Given the description of an element on the screen output the (x, y) to click on. 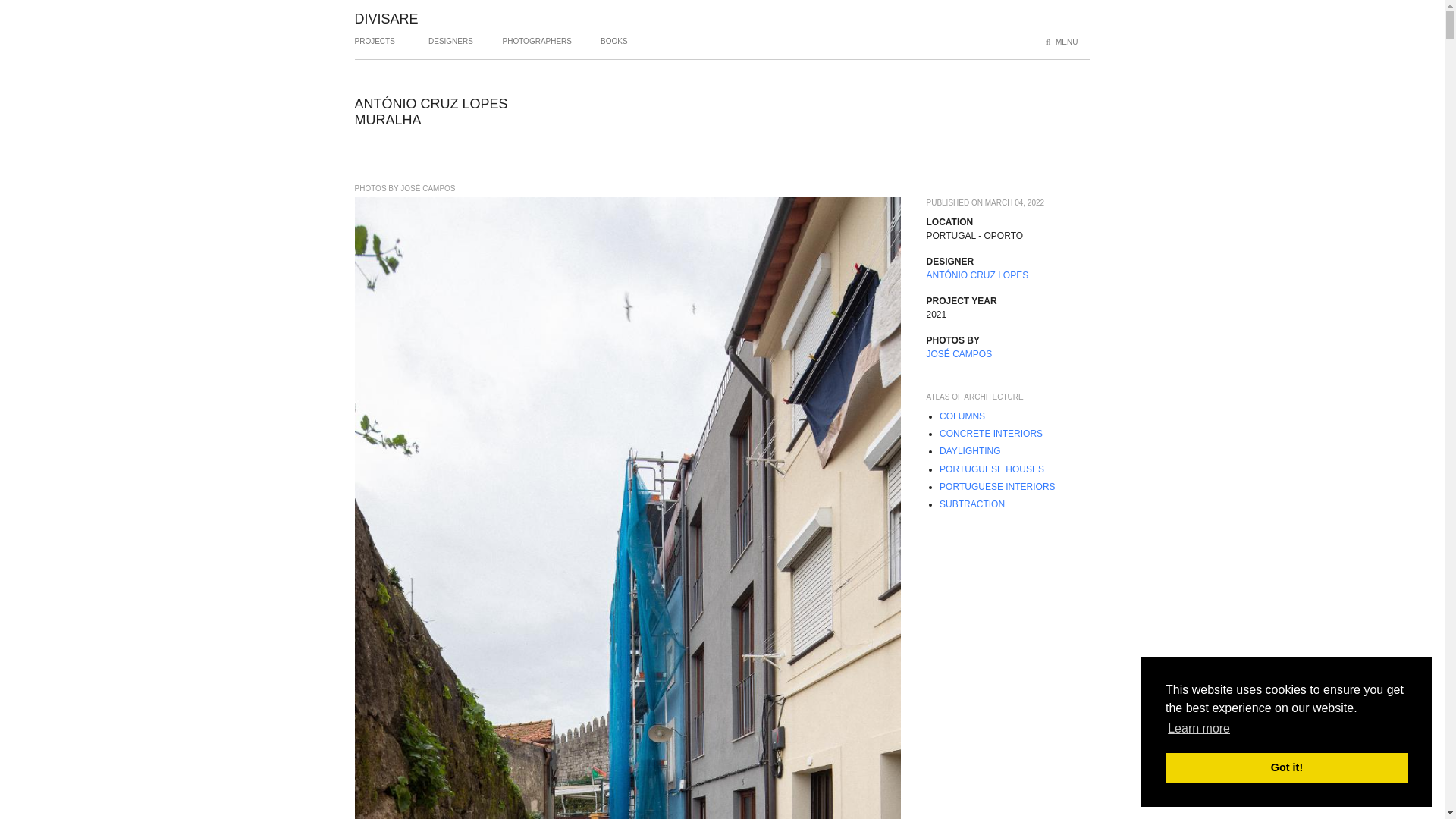
PROJECTS (374, 46)
Got it! (1286, 767)
Learn more (1198, 728)
DIVISARE (387, 18)
